Given the description of an element on the screen output the (x, y) to click on. 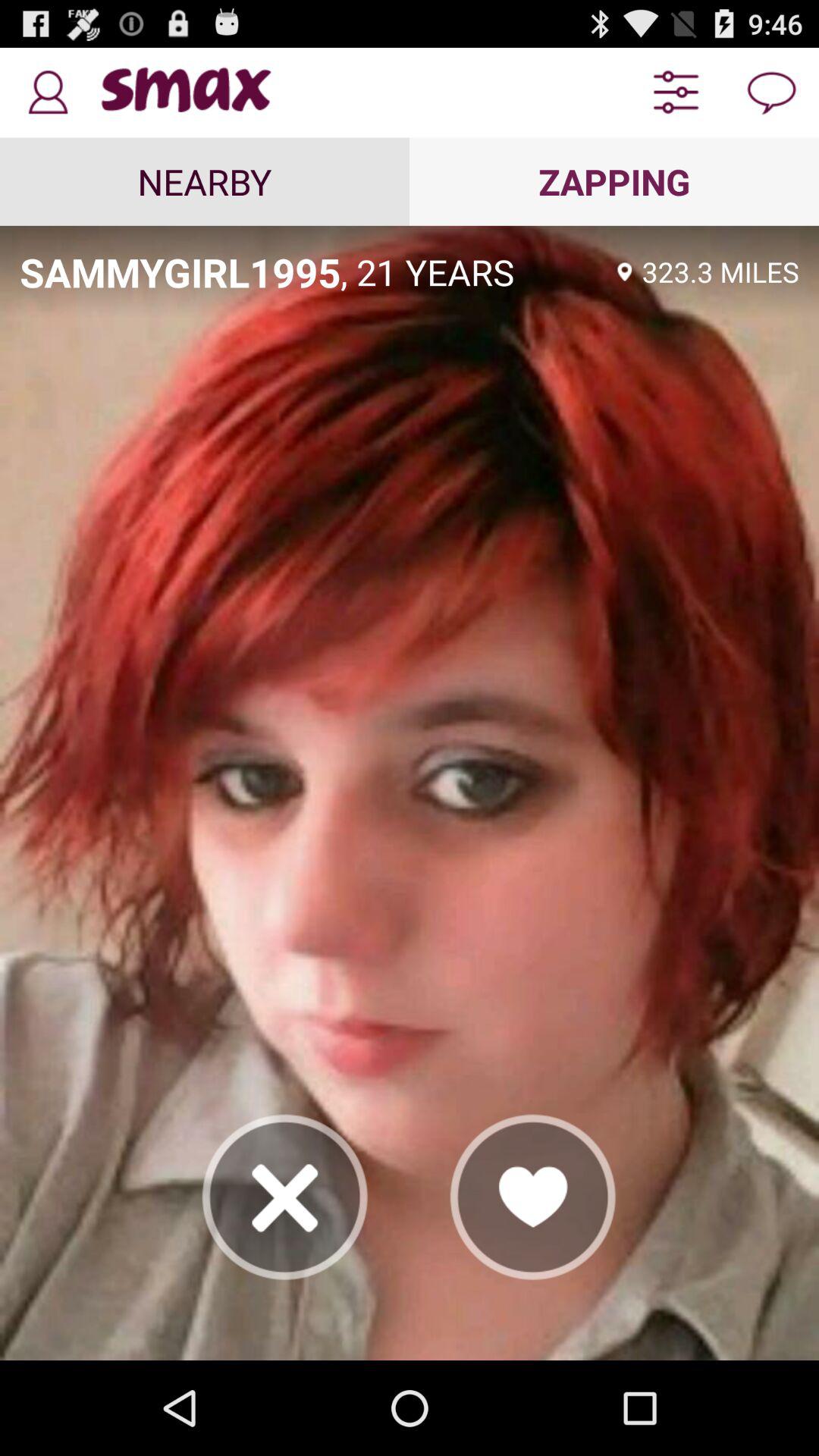
show settings (675, 92)
